Given the description of an element on the screen output the (x, y) to click on. 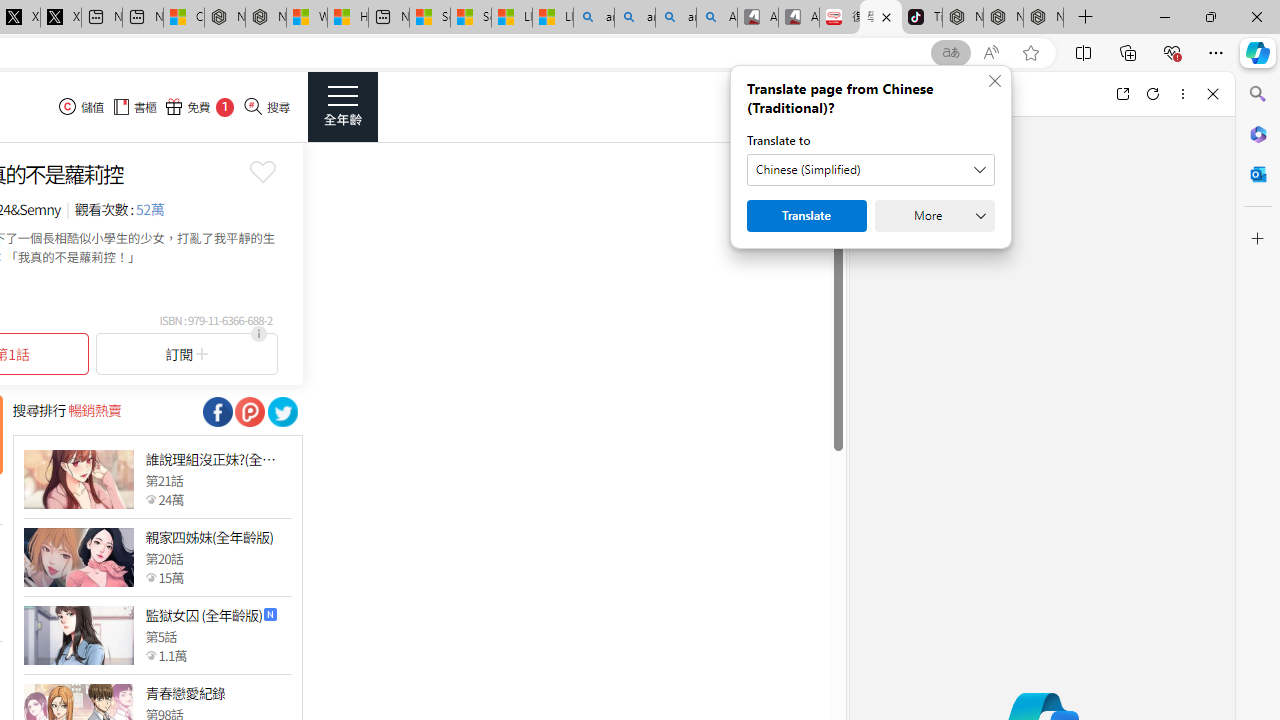
Customize (1258, 239)
Compose (971, 93)
Amazon Echo Robot - Search Images (717, 17)
